Given the description of an element on the screen output the (x, y) to click on. 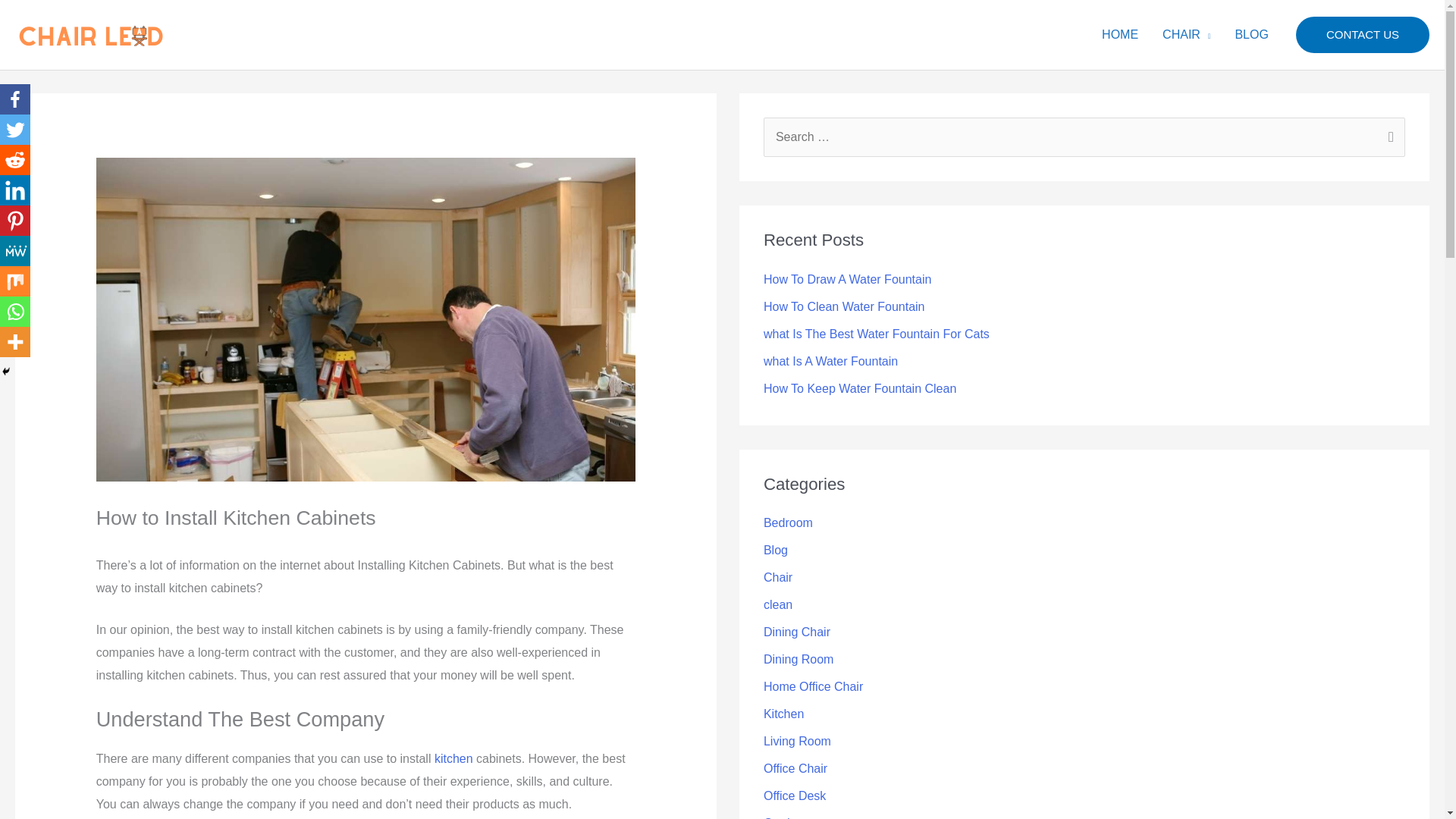
Hide (5, 371)
Linkedin (15, 190)
Twitter (15, 129)
More (15, 341)
Facebook (15, 99)
HOME (1119, 34)
Reddit (15, 159)
CHAIR (1186, 34)
kitchen (453, 758)
Mix (15, 281)
